Given the description of an element on the screen output the (x, y) to click on. 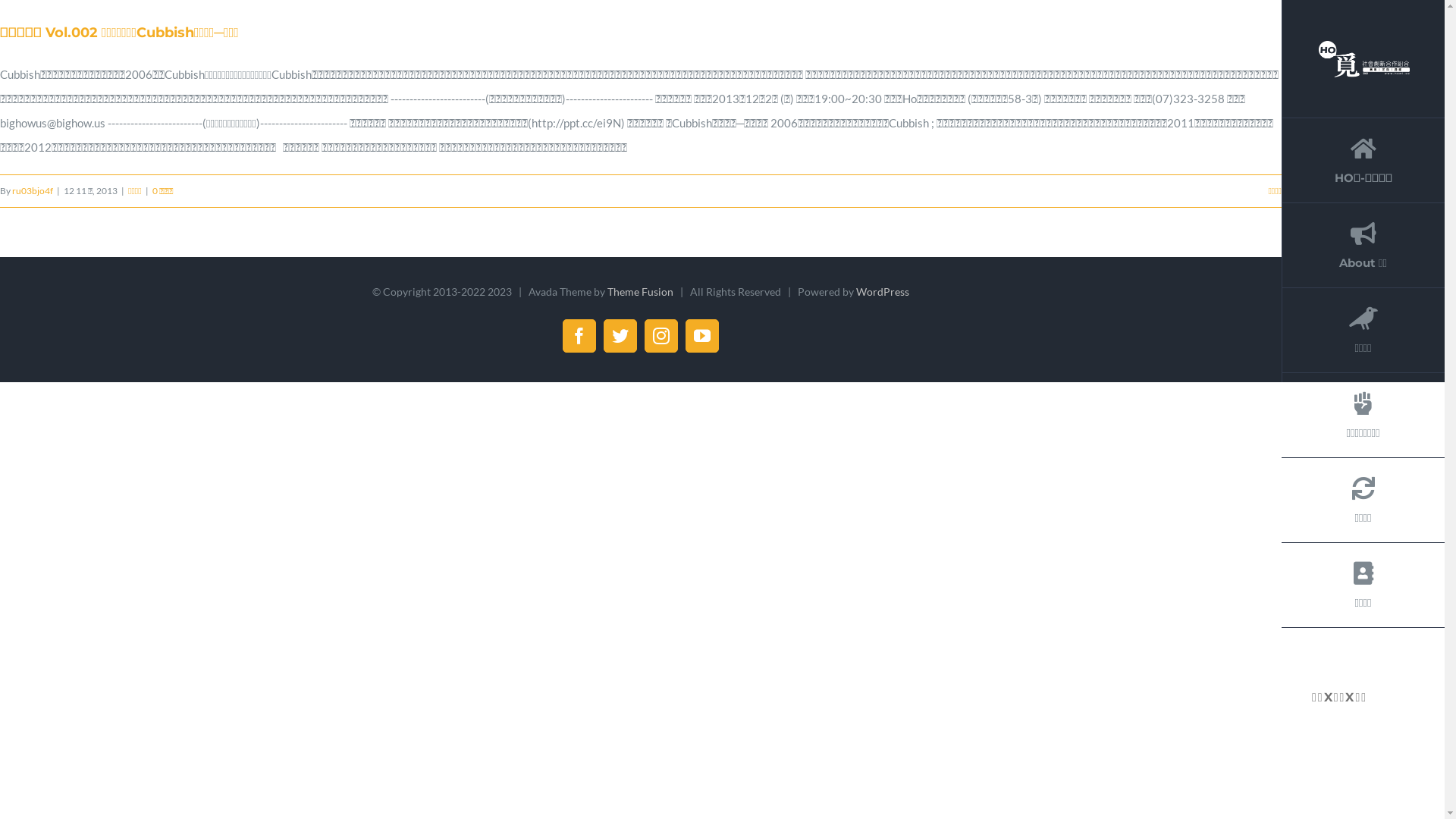
Instagram Element type: text (660, 335)
ru03bjo4f Element type: text (32, 190)
Twitter Element type: text (620, 335)
Theme Fusion Element type: text (640, 291)
WordPress Element type: text (882, 291)
Facebook Element type: text (579, 335)
YouTube Element type: text (701, 335)
